Given the description of an element on the screen output the (x, y) to click on. 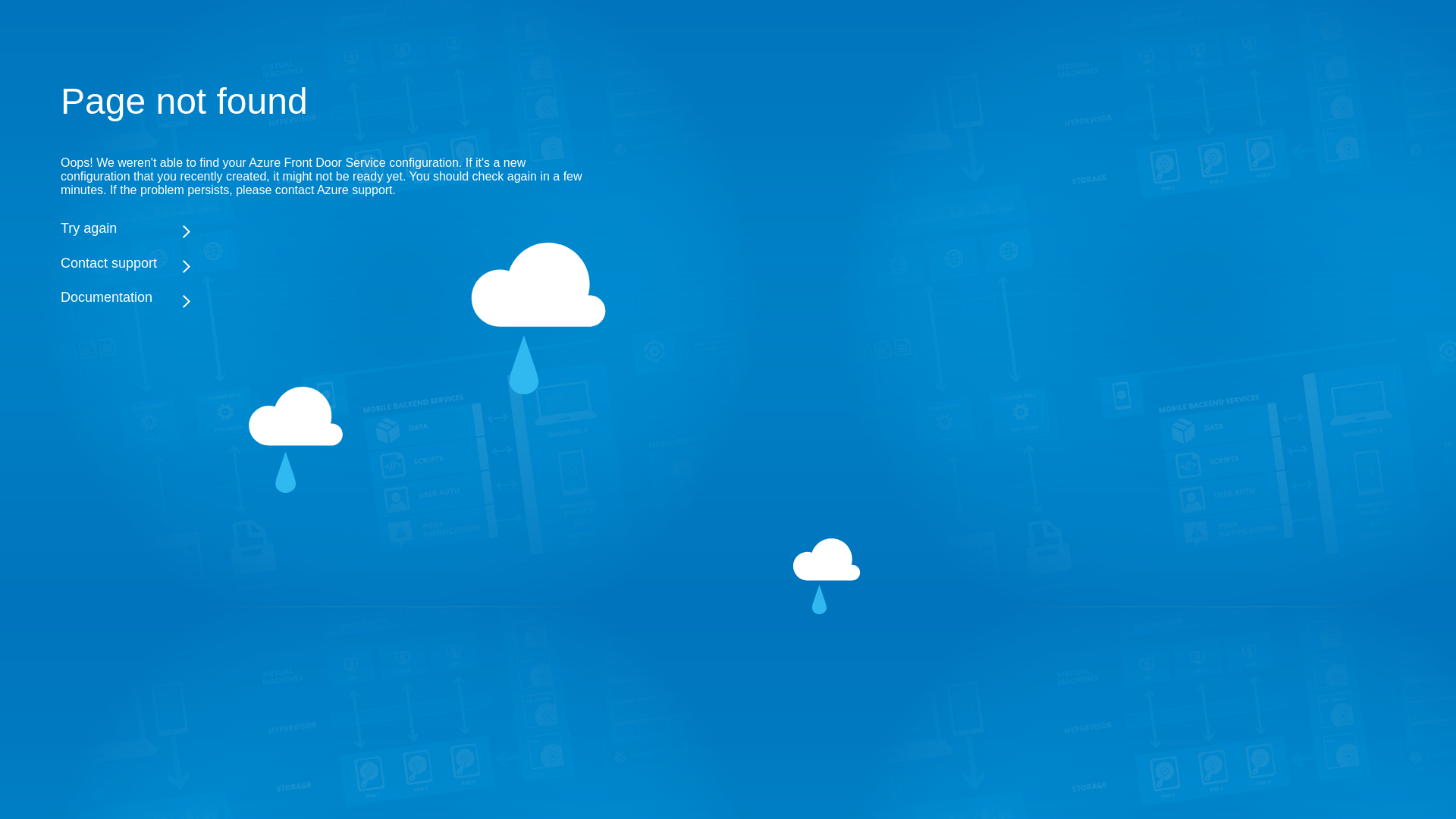
Contact support (326, 262)
Try again (326, 228)
Documentation (326, 297)
